Given the description of an element on the screen output the (x, y) to click on. 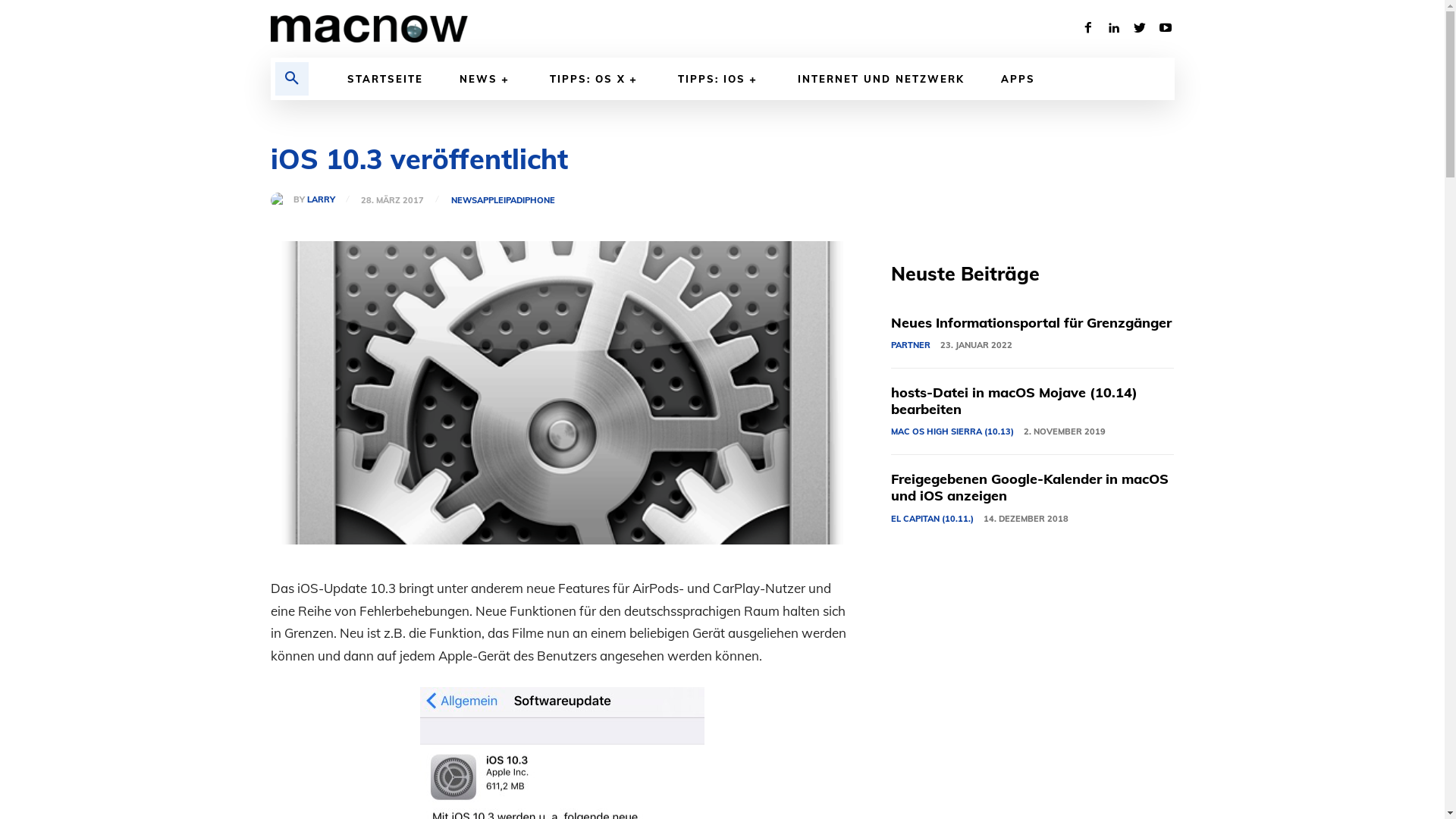
APPLE Element type: text (489, 200)
LARRY Element type: text (320, 199)
INTERNET UND NETZWERK Element type: text (880, 78)
Larry Element type: hover (280, 199)
Freigegebenen Google-Kalender in macOS und iOS anzeigen Element type: text (1029, 487)
Facebook Element type: hover (1087, 28)
APPS Element type: text (1017, 78)
STARTSEITE Element type: text (385, 78)
NEWS Element type: text (486, 78)
EL CAPITAN (10.11.) Element type: text (932, 519)
NEWS Element type: text (463, 200)
TIPPS: OS X Element type: text (595, 78)
Linkedin Element type: hover (1113, 28)
Youtube Element type: hover (1164, 28)
hosts-Datei in macOS Mojave (10.14) bearbeiten Element type: text (1014, 400)
MAC OS HIGH SIERRA (10.13) Element type: text (952, 432)
PARTNER Element type: text (910, 345)
IPHONE Element type: text (538, 200)
IPAD Element type: text (512, 200)
TIPPS: IOS Element type: text (719, 78)
Twitter Element type: hover (1138, 28)
